Given the description of an element on the screen output the (x, y) to click on. 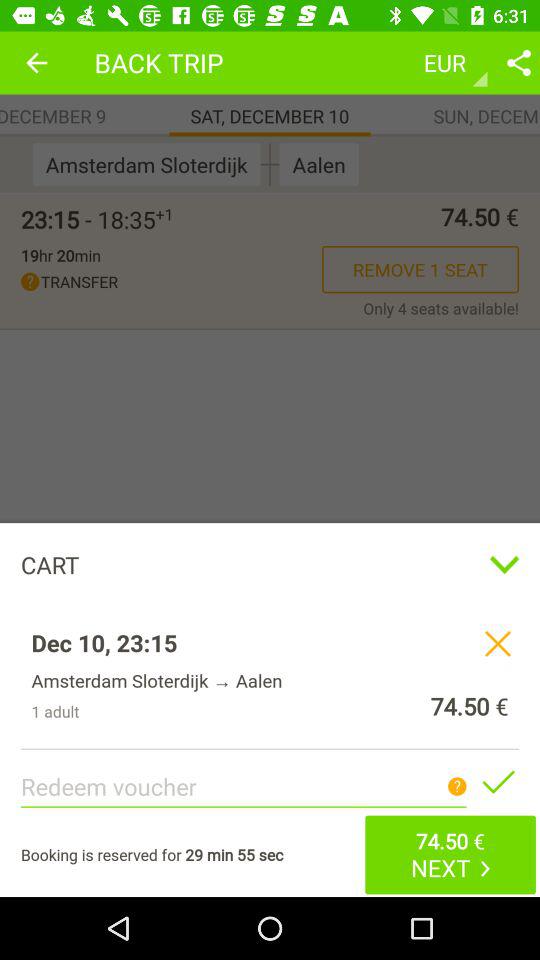
launch the item to the left of aalen item (269, 164)
